Given the description of an element on the screen output the (x, y) to click on. 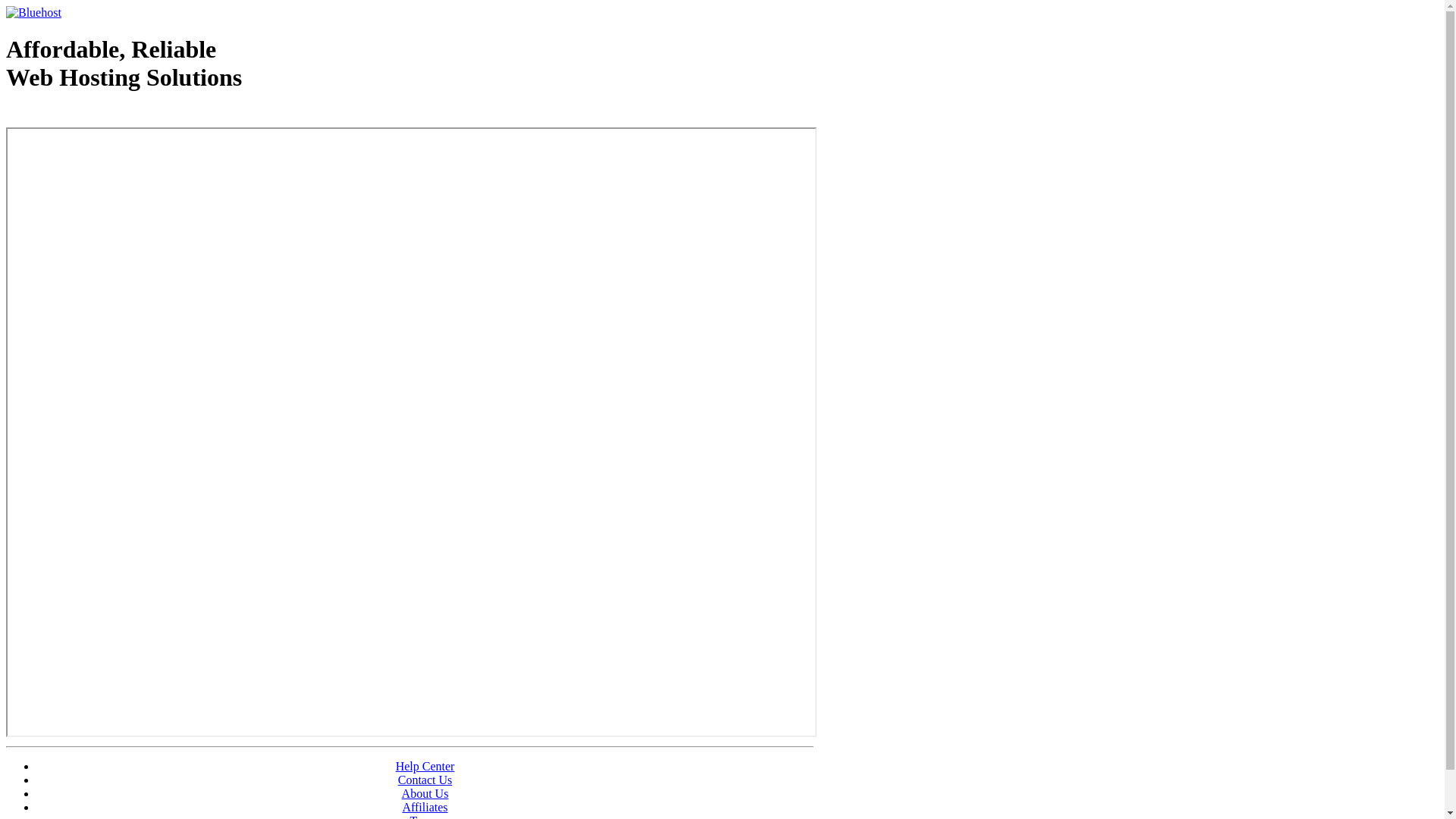
Affiliates Element type: text (424, 806)
Web Hosting - courtesy of www.bluehost.com Element type: text (94, 115)
Help Center Element type: text (425, 765)
Contact Us Element type: text (425, 779)
About Us Element type: text (424, 793)
